Given the description of an element on the screen output the (x, y) to click on. 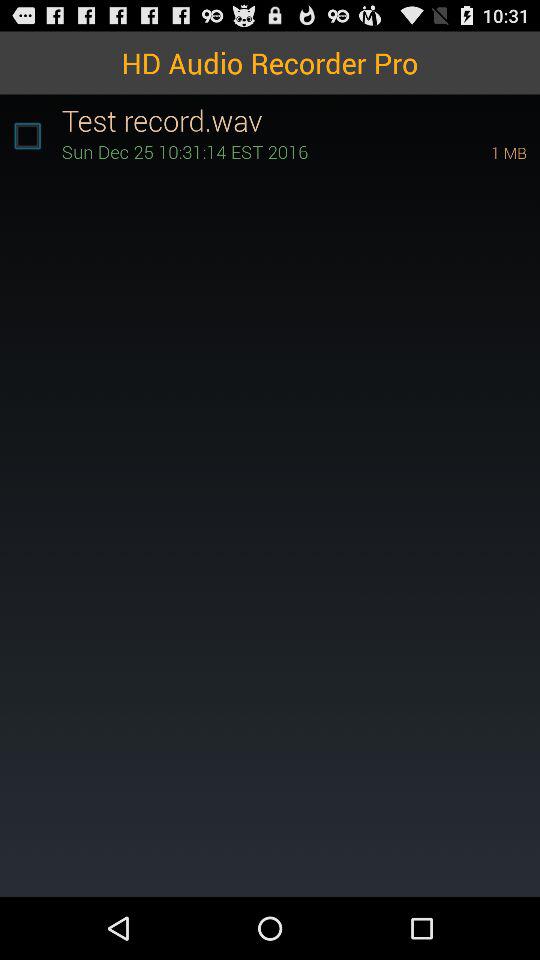
open the sun dec 25 icon (248, 151)
